Given the description of an element on the screen output the (x, y) to click on. 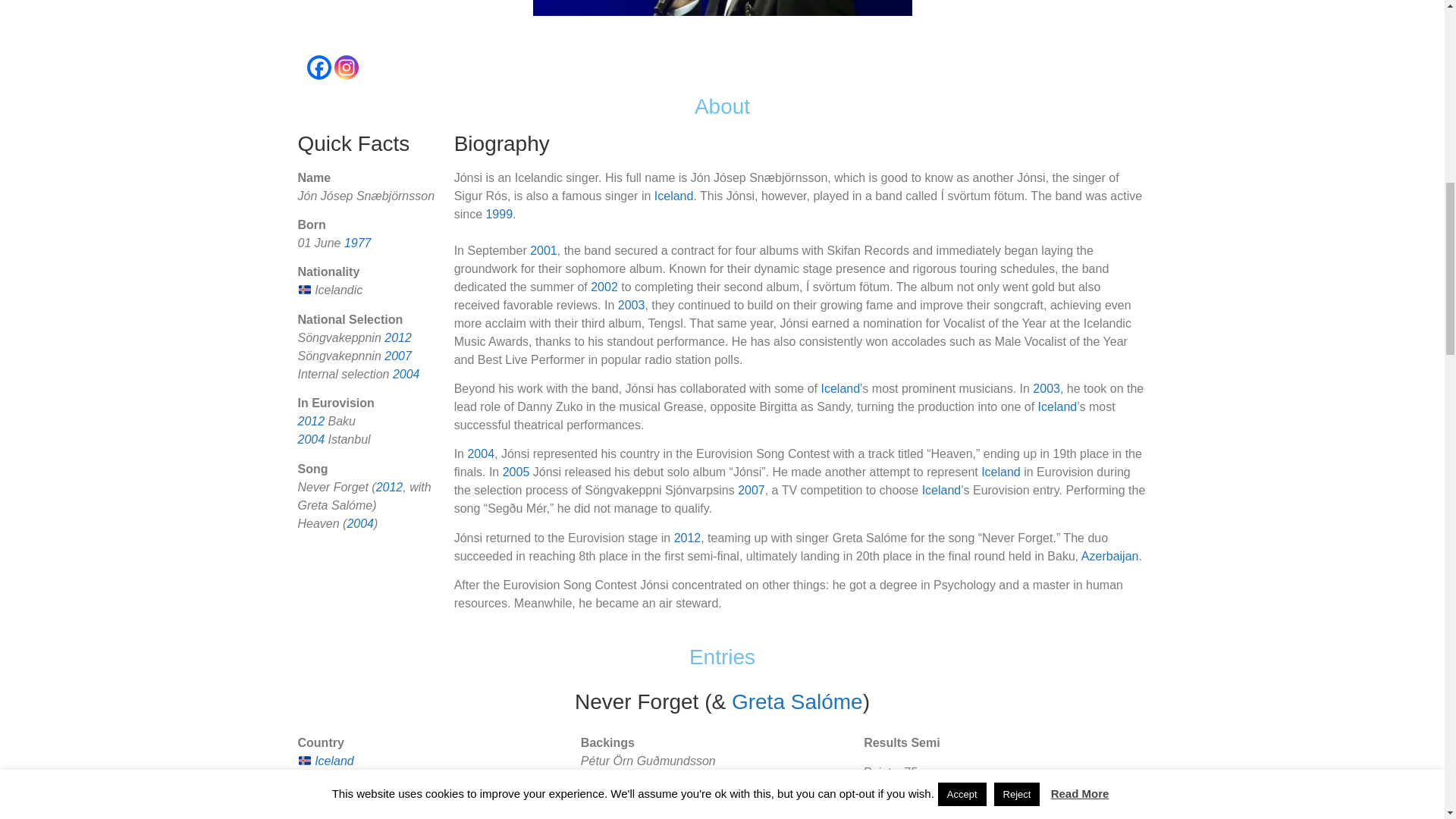
2012 (310, 420)
2004 (360, 522)
2012 (398, 337)
2004 (406, 373)
Iceland (673, 195)
2012 (389, 486)
2007 (398, 355)
Instagram (345, 67)
1977 (357, 242)
1999 (498, 214)
